Given the description of an element on the screen output the (x, y) to click on. 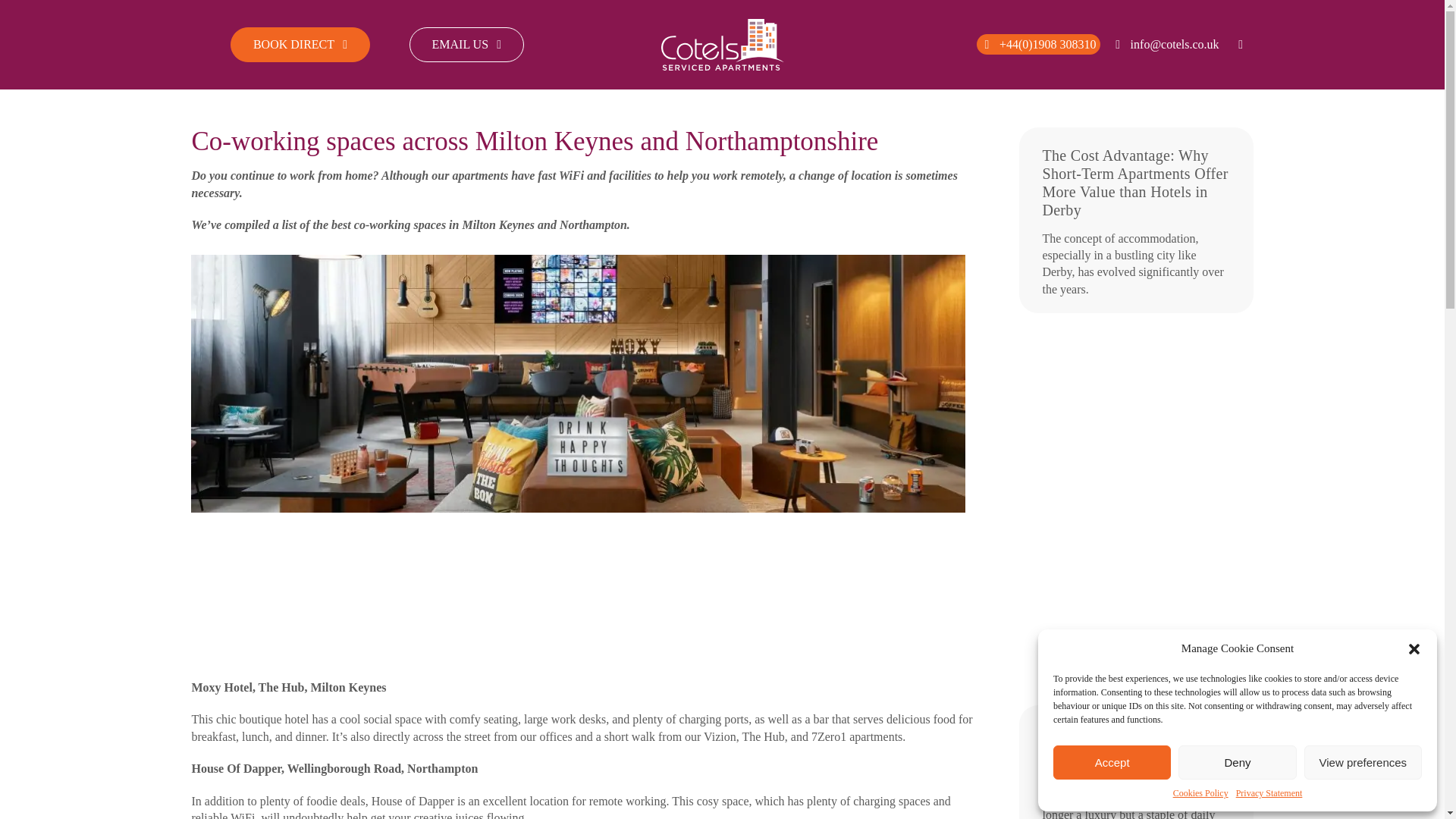
Deny (1236, 762)
View preferences (1363, 762)
Cookies Policy (1200, 793)
Privacy Statement (1269, 793)
Moxy Hotel, The Hub, Milton Keynes (287, 686)
BOOK DIRECT (299, 44)
EMAIL US (466, 44)
Accept (1111, 762)
House Of Dapper, Wellingborough Road, Northampton (333, 768)
